Given the description of an element on the screen output the (x, y) to click on. 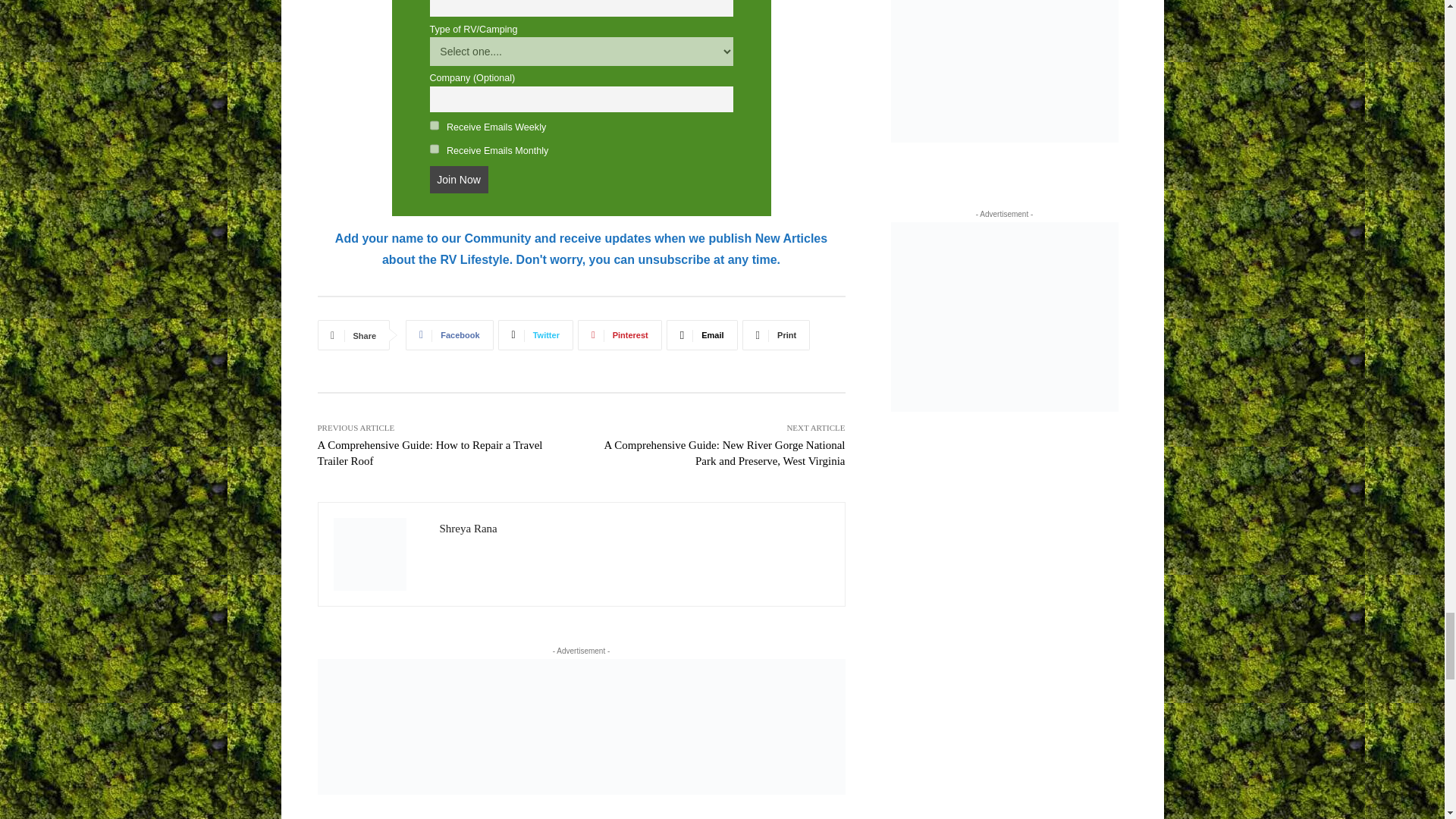
1 (434, 125)
Join Now (458, 179)
2 (434, 148)
